Given the description of an element on the screen output the (x, y) to click on. 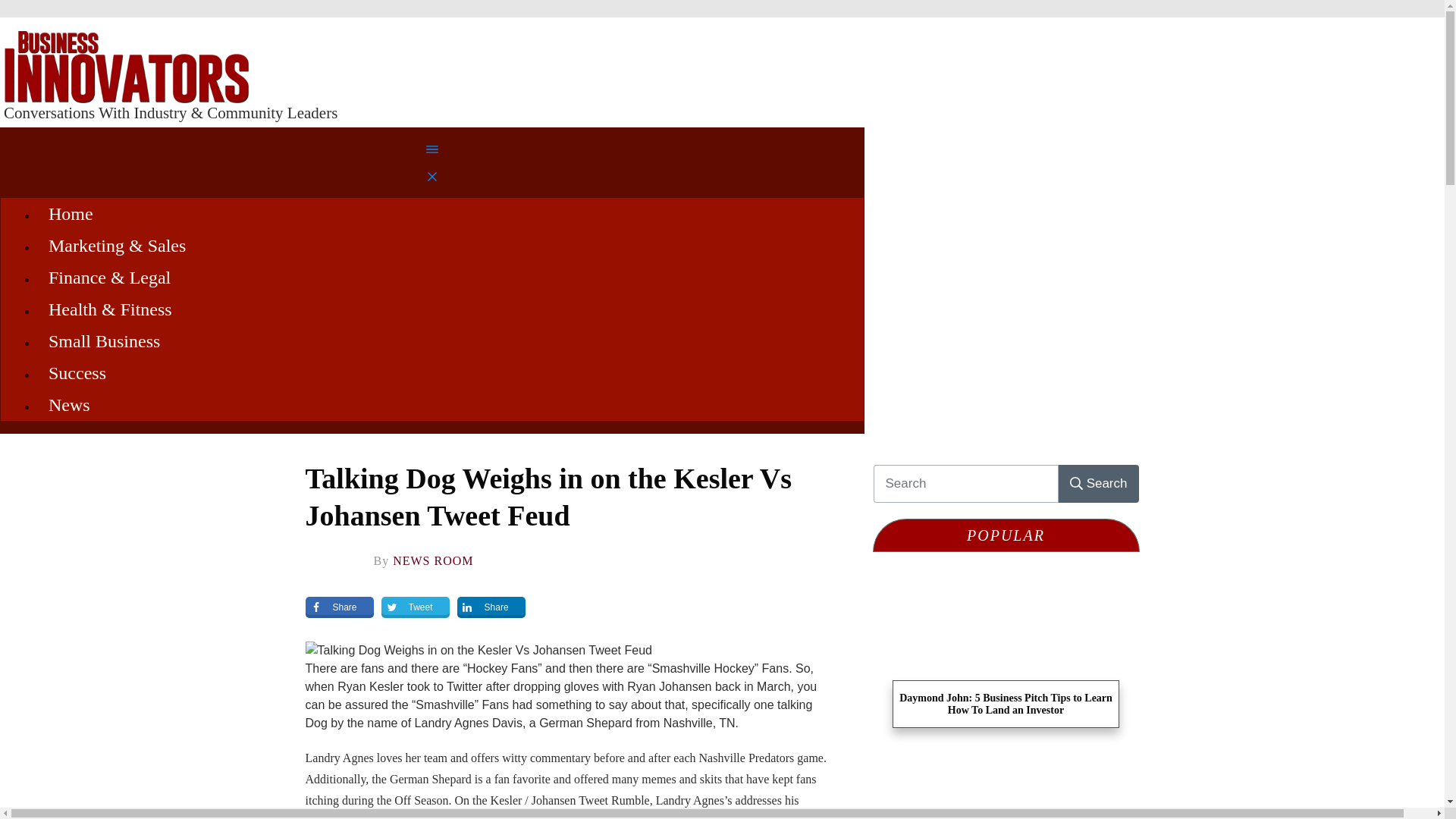
Small Business (104, 340)
Share (491, 607)
News (69, 403)
Success (77, 372)
Home (70, 212)
NEWS ROOM (433, 560)
Search (1098, 483)
Talking Dog Weighs in on the Kesler Vs Johansen Tweet Feud (548, 496)
Share (338, 607)
Tweet (415, 607)
Success is Not Related To Education with Dave Ramsey (1005, 790)
Talking Dog Weighs in on the Kesler Vs Johansen Tweet Feud (548, 496)
